Given the description of an element on the screen output the (x, y) to click on. 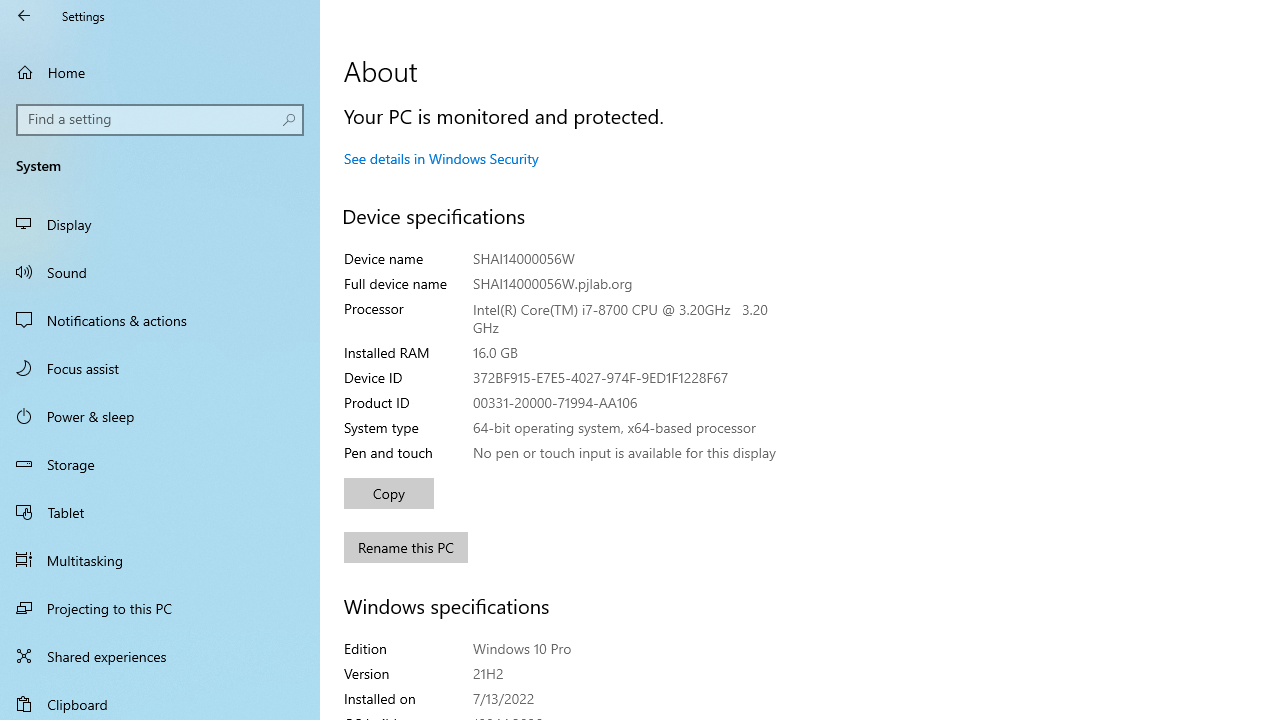
Power & sleep (160, 415)
Shared experiences (160, 655)
Rename this PC (406, 547)
Tablet (160, 511)
Projecting to this PC (160, 607)
Display (160, 223)
Notifications & actions (160, 319)
Sound (160, 271)
See details in Windows Security (441, 158)
Focus assist (160, 367)
Copy (388, 493)
Multitasking (160, 559)
Search box, Find a setting (160, 119)
